Given the description of an element on the screen output the (x, y) to click on. 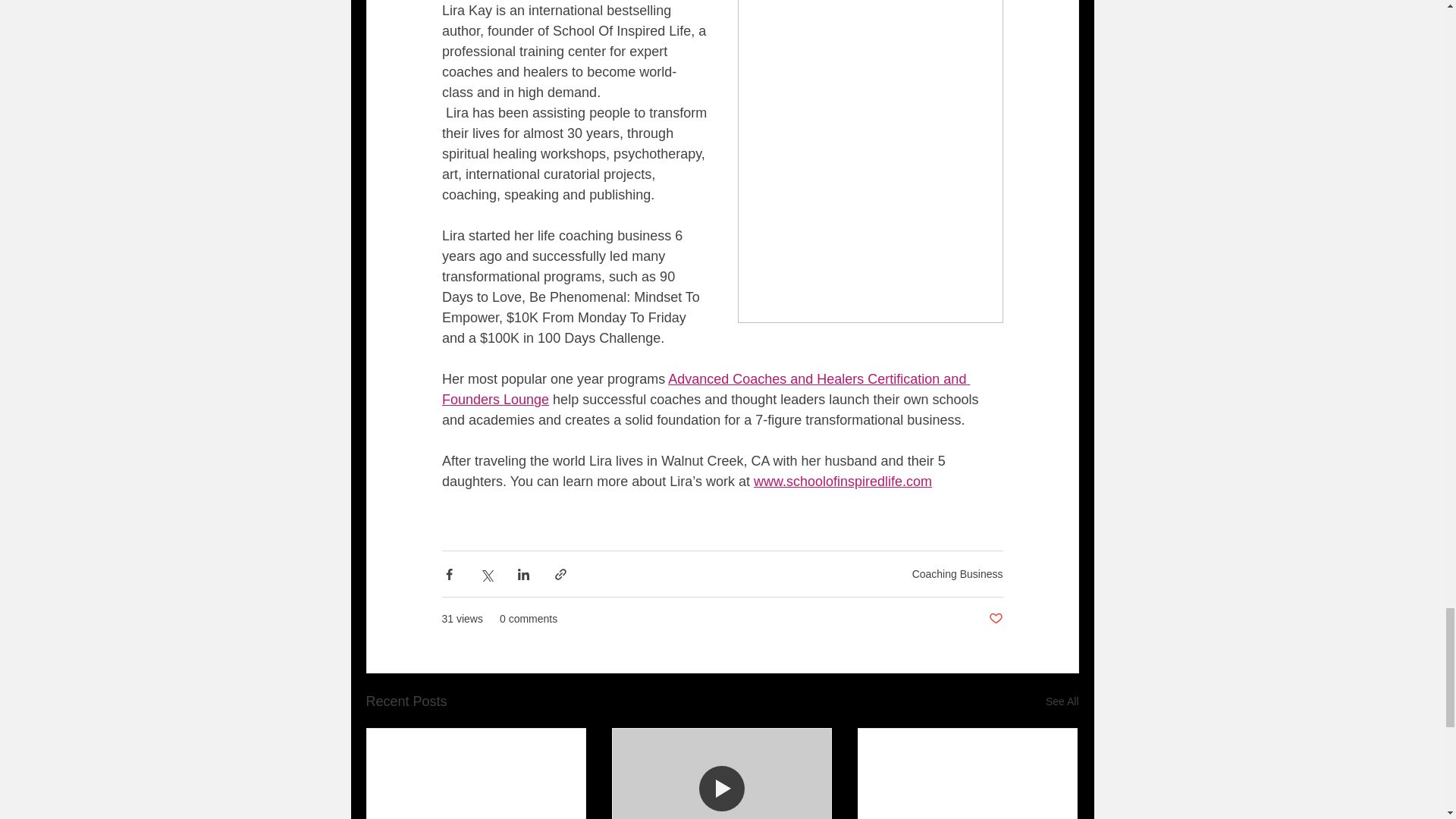
See All (1061, 701)
Post not marked as liked (995, 618)
Coaching Business (957, 573)
www.schoolofinspiredlife.com (841, 481)
